Given the description of an element on the screen output the (x, y) to click on. 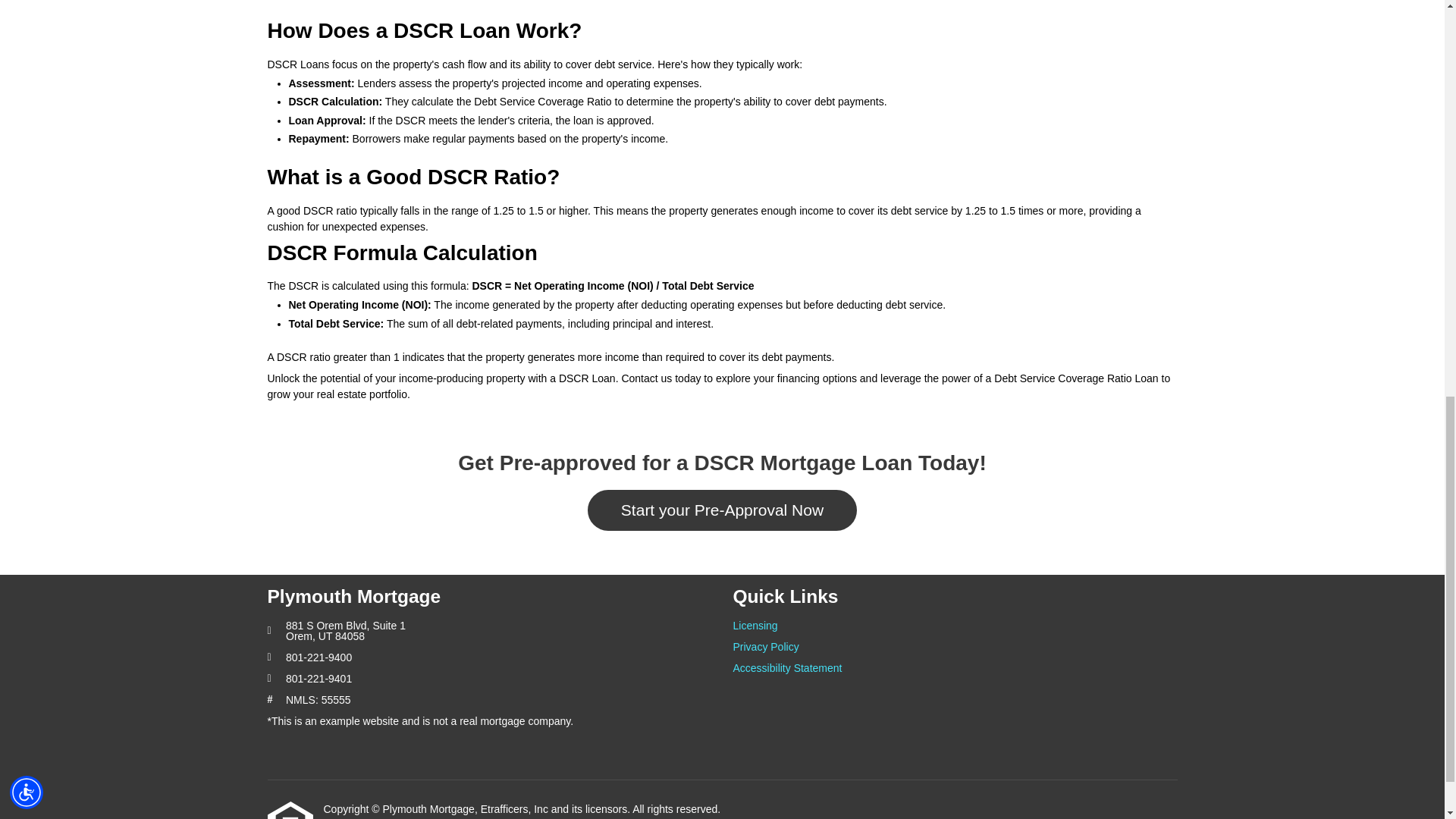
Privacy Policy (954, 646)
Start your Pre-Approval Now (722, 509)
Licensing (954, 624)
Accessibility Statement (954, 667)
